Given the description of an element on the screen output the (x, y) to click on. 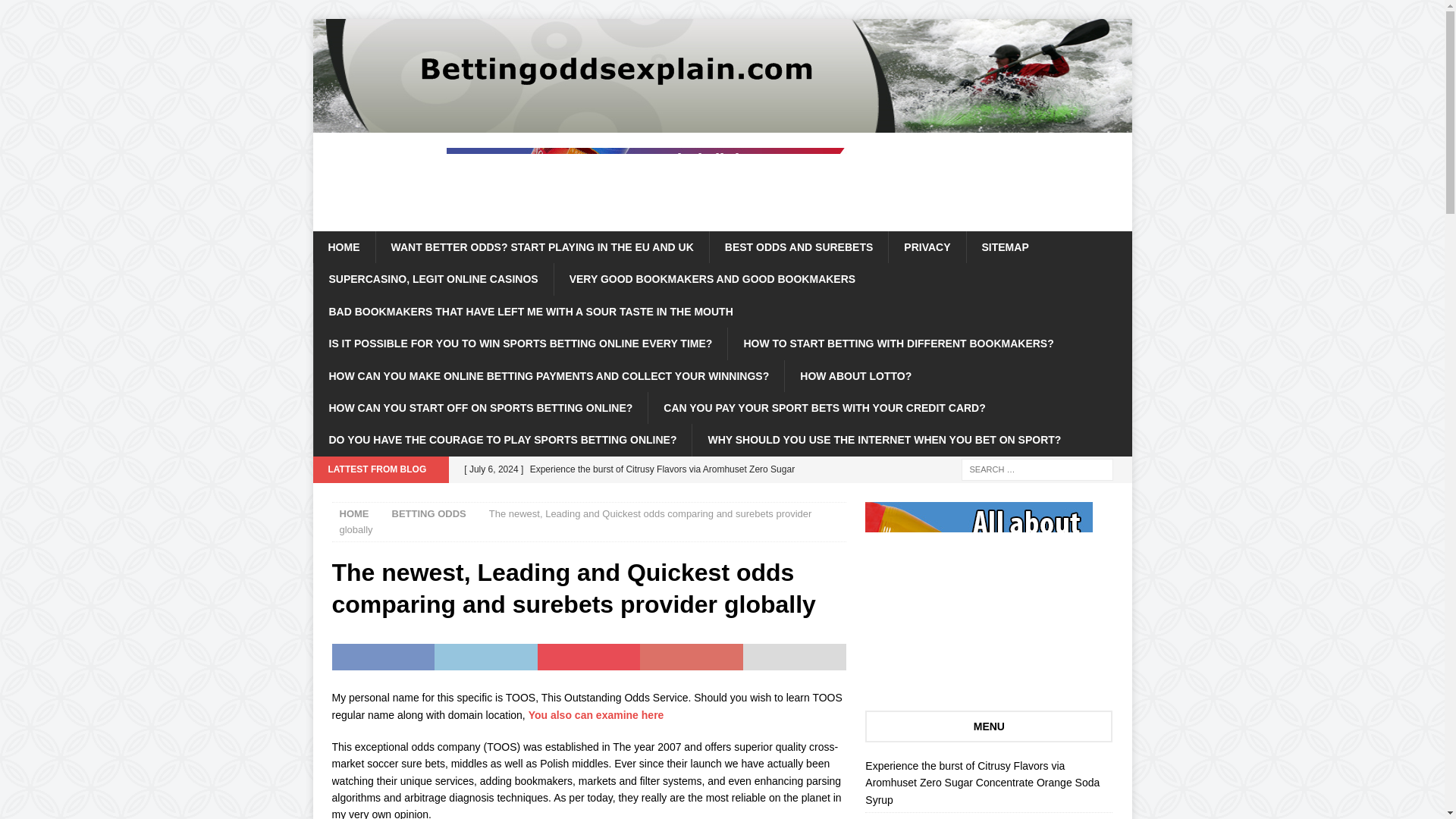
SUPERCASINO, LEGIT ONLINE CASINOS (433, 278)
SITEMAP (1004, 246)
BETTING ODDS (428, 513)
CAN YOU PAY YOUR SPORT BETS WITH YOUR CREDIT CARD? (823, 408)
HOME (343, 246)
HOW CAN YOU START OFF ON SPORTS BETTING ONLINE? (480, 408)
DO YOU HAVE THE COURAGE TO PLAY SPORTS BETTING ONLINE? (502, 439)
PRIVACY (926, 246)
WANT BETTER ODDS? START PLAYING IN THE EU AND UK (540, 246)
You also can examine here (595, 714)
Bettingoddsexplain (722, 123)
HOW ABOUT LOTTO? (855, 376)
HOW TO START BETTING WITH DIFFERENT BOOKMAKERS? (897, 343)
VERY GOOD BOOKMAKERS AND GOOD BOOKMAKERS (711, 278)
